Given the description of an element on the screen output the (x, y) to click on. 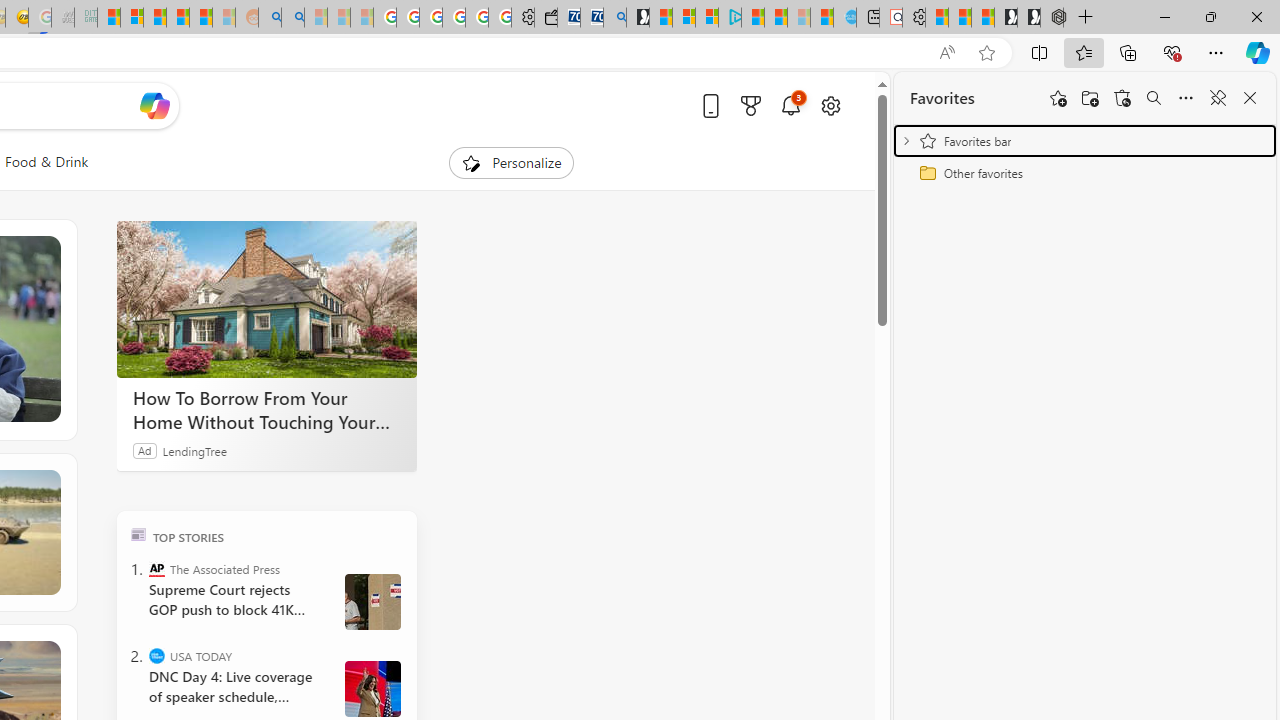
DITOGAMES AG Imprint - Sleeping (86, 17)
Add this page to favorites (1058, 98)
Home | Sky Blue Bikes - Sky Blue Bikes (845, 17)
Student Loan Update: Forgiveness Program Ends This Month (200, 17)
Bing Real Estate - Home sales and rental listings (614, 17)
Cheap Car Rentals - Save70.com (591, 17)
